Given the description of an element on the screen output the (x, y) to click on. 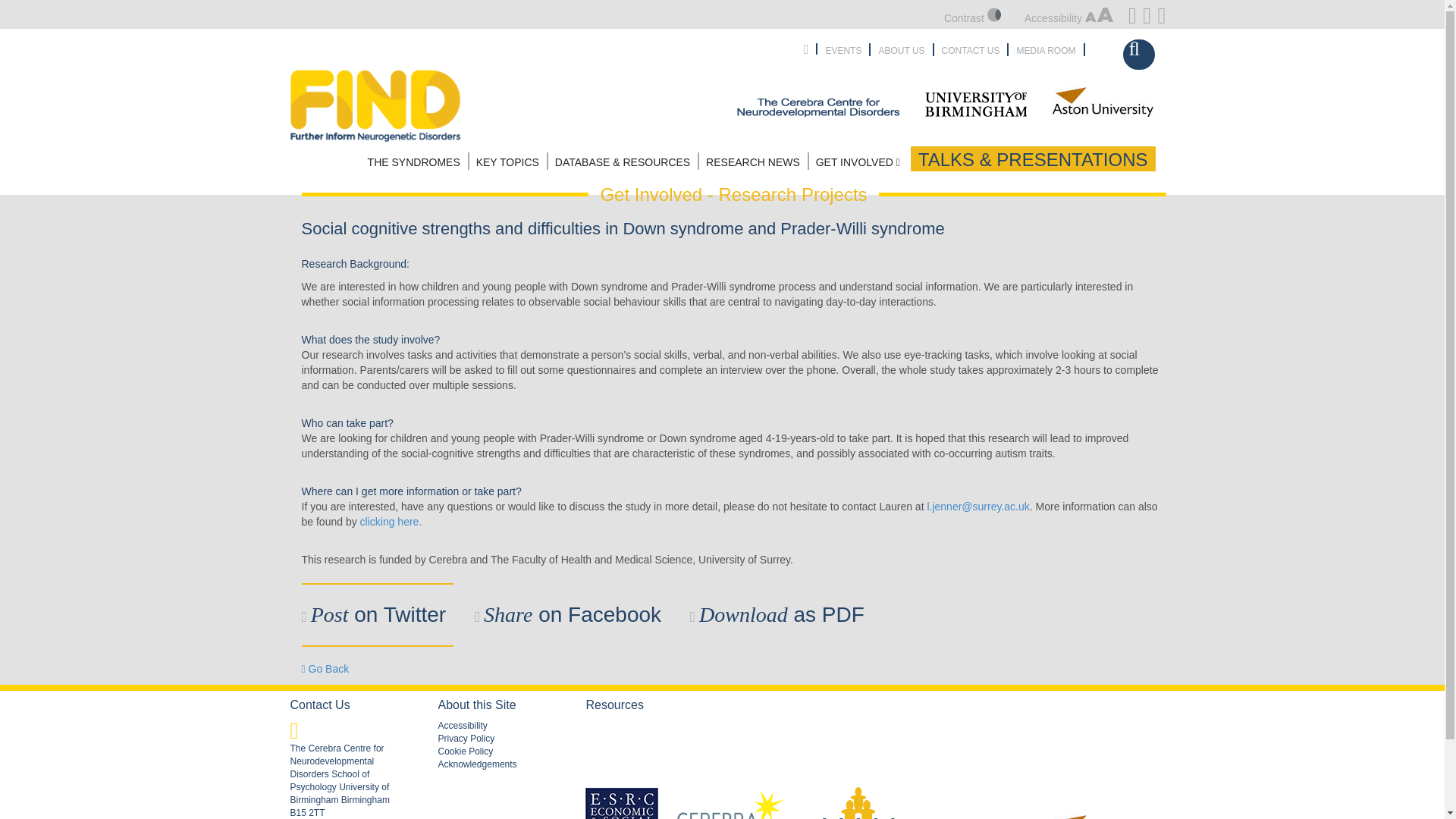
CONTACT US (971, 48)
Contrast (976, 18)
THE SYNDROMES (416, 160)
EVENTS (843, 48)
ABOUT US (900, 48)
MEDIA ROOM (1045, 48)
Accessibility (1069, 18)
